Given the description of an element on the screen output the (x, y) to click on. 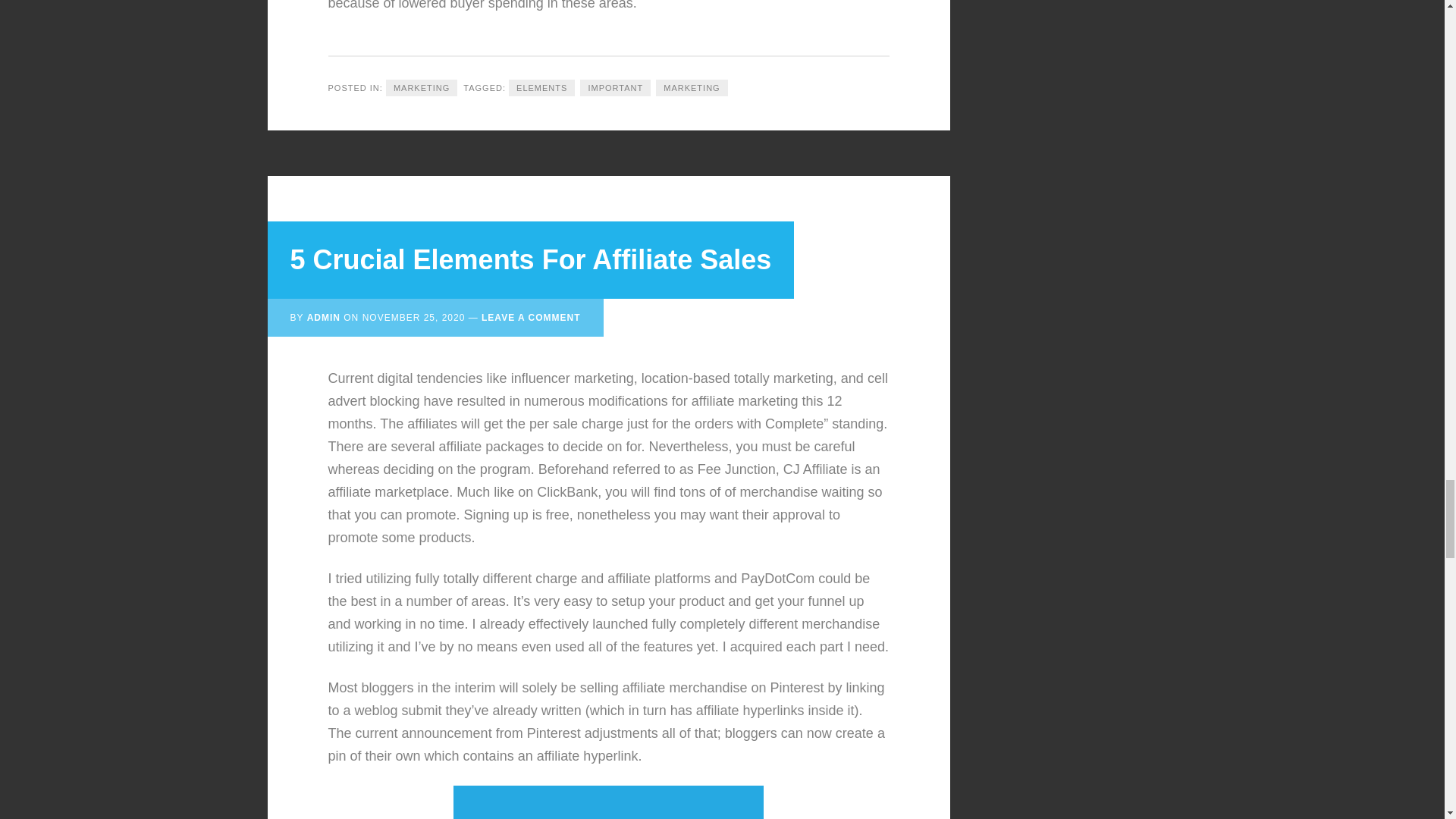
ADMIN (323, 317)
5 Crucial Elements For Affiliate Sales (530, 259)
MARKETING (691, 88)
ELEMENTS (541, 88)
MARKETING (421, 88)
IMPORTANT (614, 88)
LEAVE A COMMENT (530, 317)
